Given the description of an element on the screen output the (x, y) to click on. 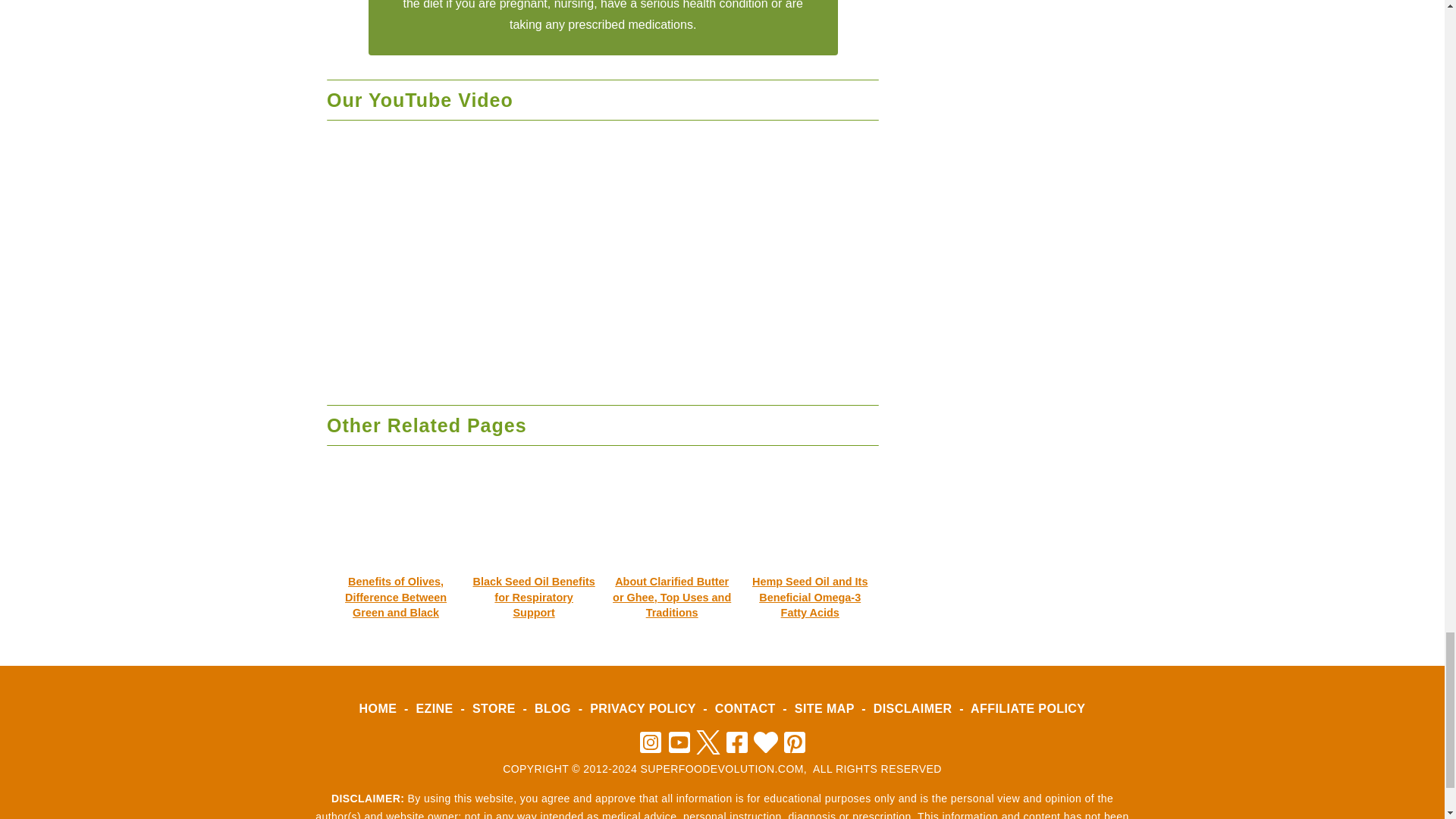
hemp-seed-oil-page (809, 522)
clarified-butter-related-pages (671, 522)
YouTube video player (602, 258)
Go to Black Seed Oil Benefits for Respiratory Support (533, 587)
Go to Hemp Seed Oil and Its Beneficial Omega-3 Fatty Acids (809, 587)
health-benifits-of-olives (395, 522)
